Given the description of an element on the screen output the (x, y) to click on. 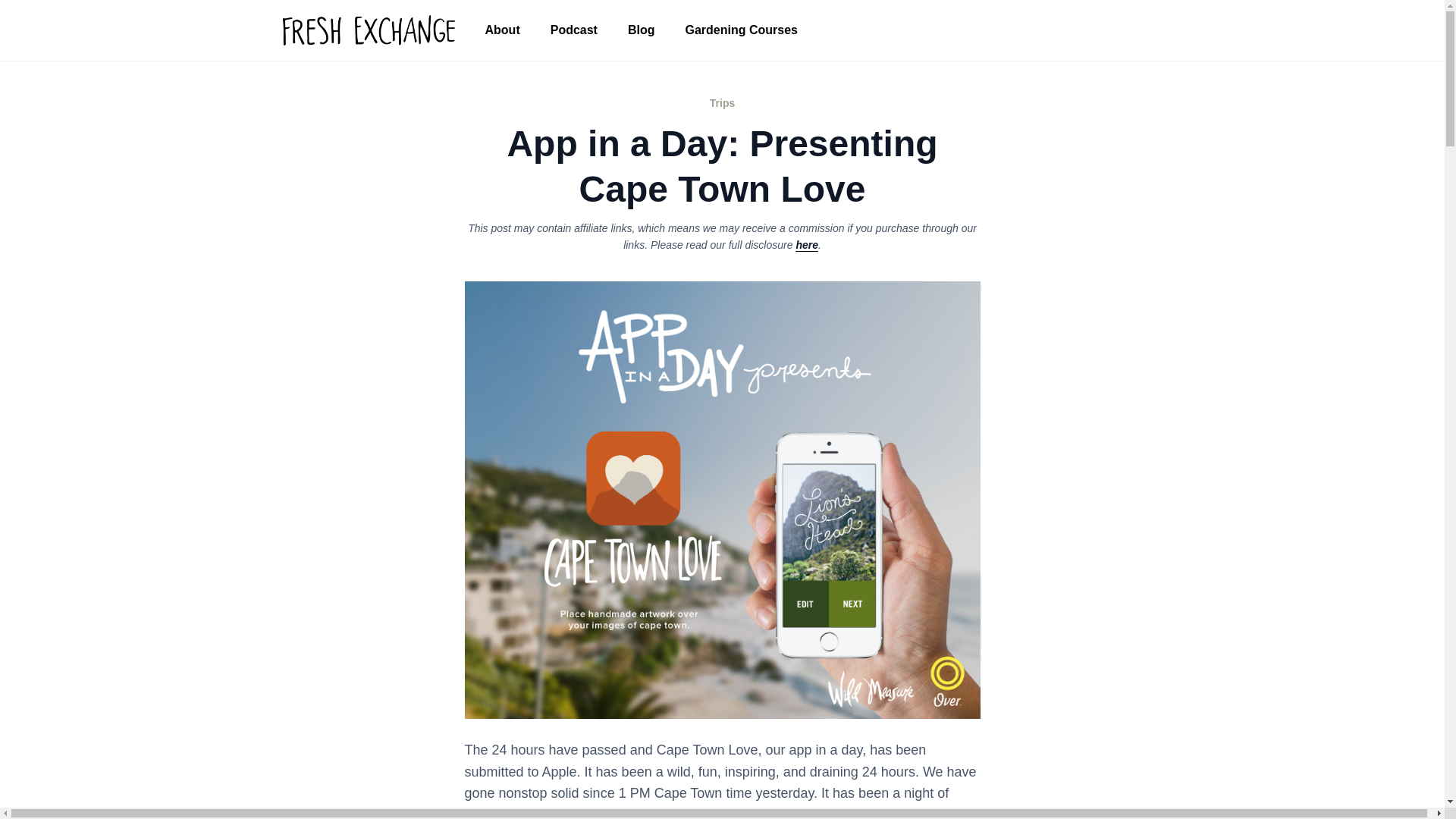
Blog (640, 30)
Gardening Courses (740, 30)
About (502, 30)
Podcast (573, 30)
Trips (722, 102)
here (806, 245)
